Given the description of an element on the screen output the (x, y) to click on. 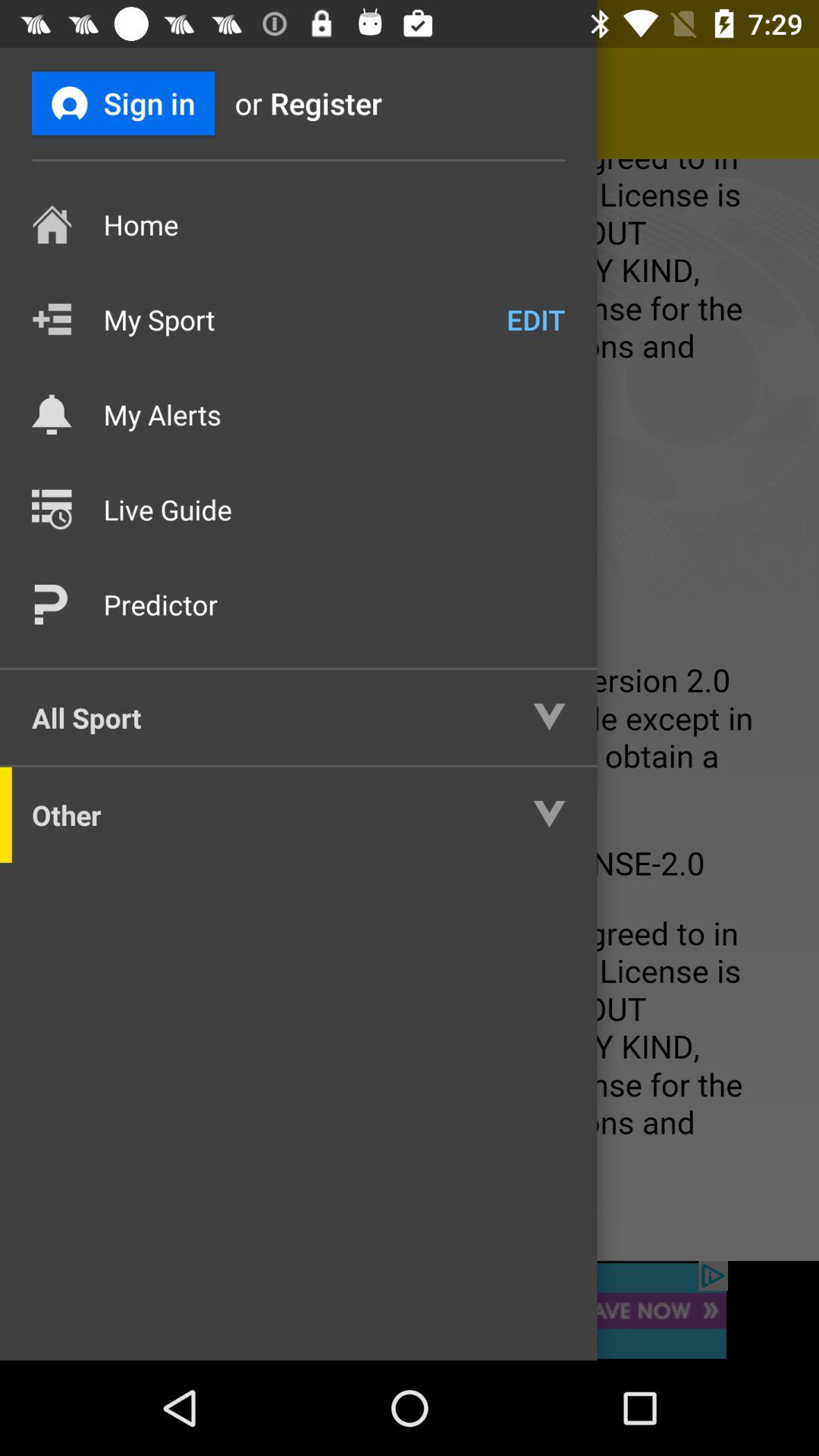
turn off item next to the or (351, 103)
